Given the description of an element on the screen output the (x, y) to click on. 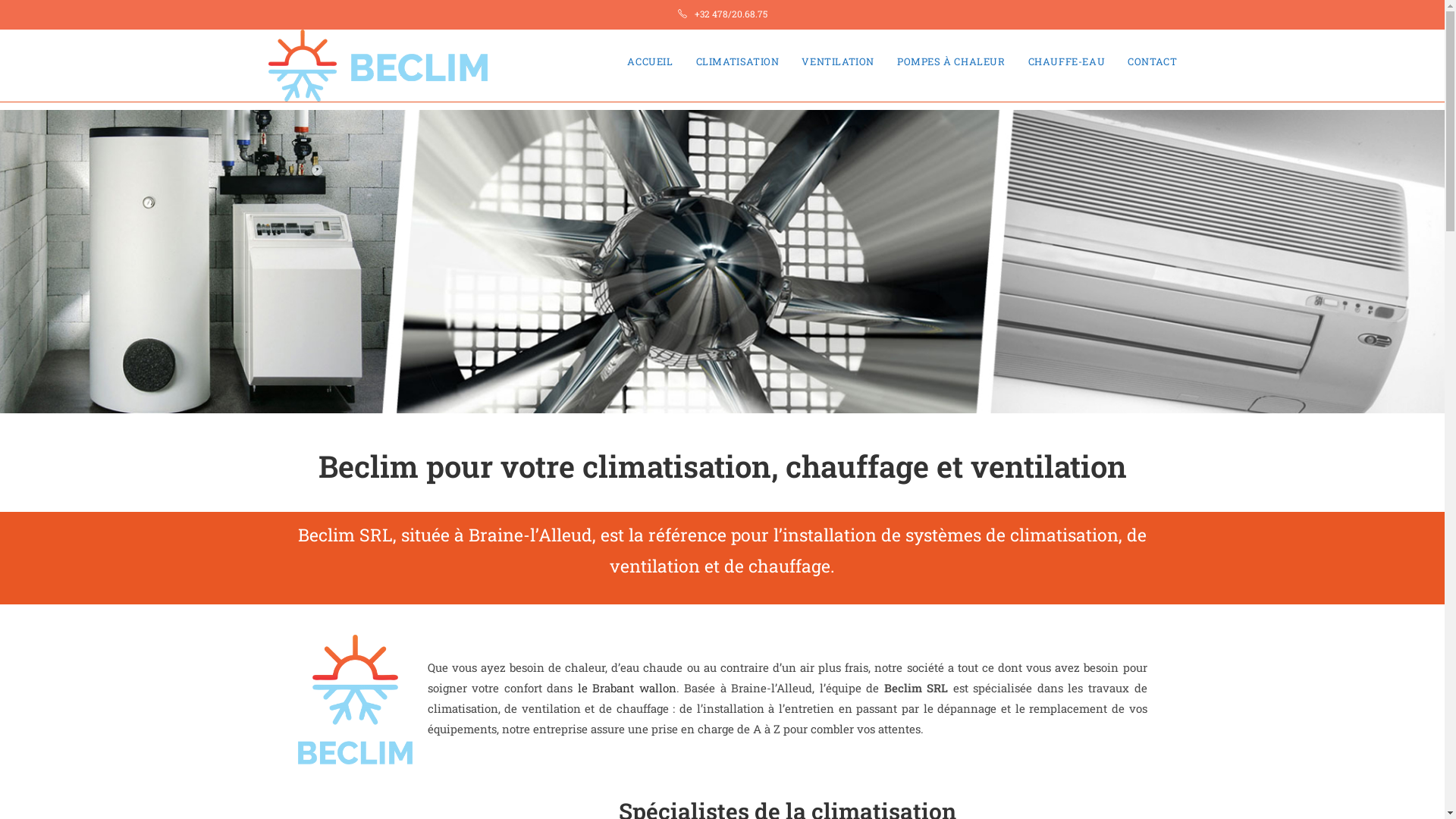
ACCUEIL Element type: text (649, 61)
VENTILATION Element type: text (837, 61)
+32 478/20.68.75 Element type: text (730, 13)
le Brabant wallon Element type: text (626, 687)
CLIMATISATION Element type: text (737, 61)
CONTACT Element type: text (1152, 61)
CHAUFFE-EAU Element type: text (1066, 61)
